Given the description of an element on the screen output the (x, y) to click on. 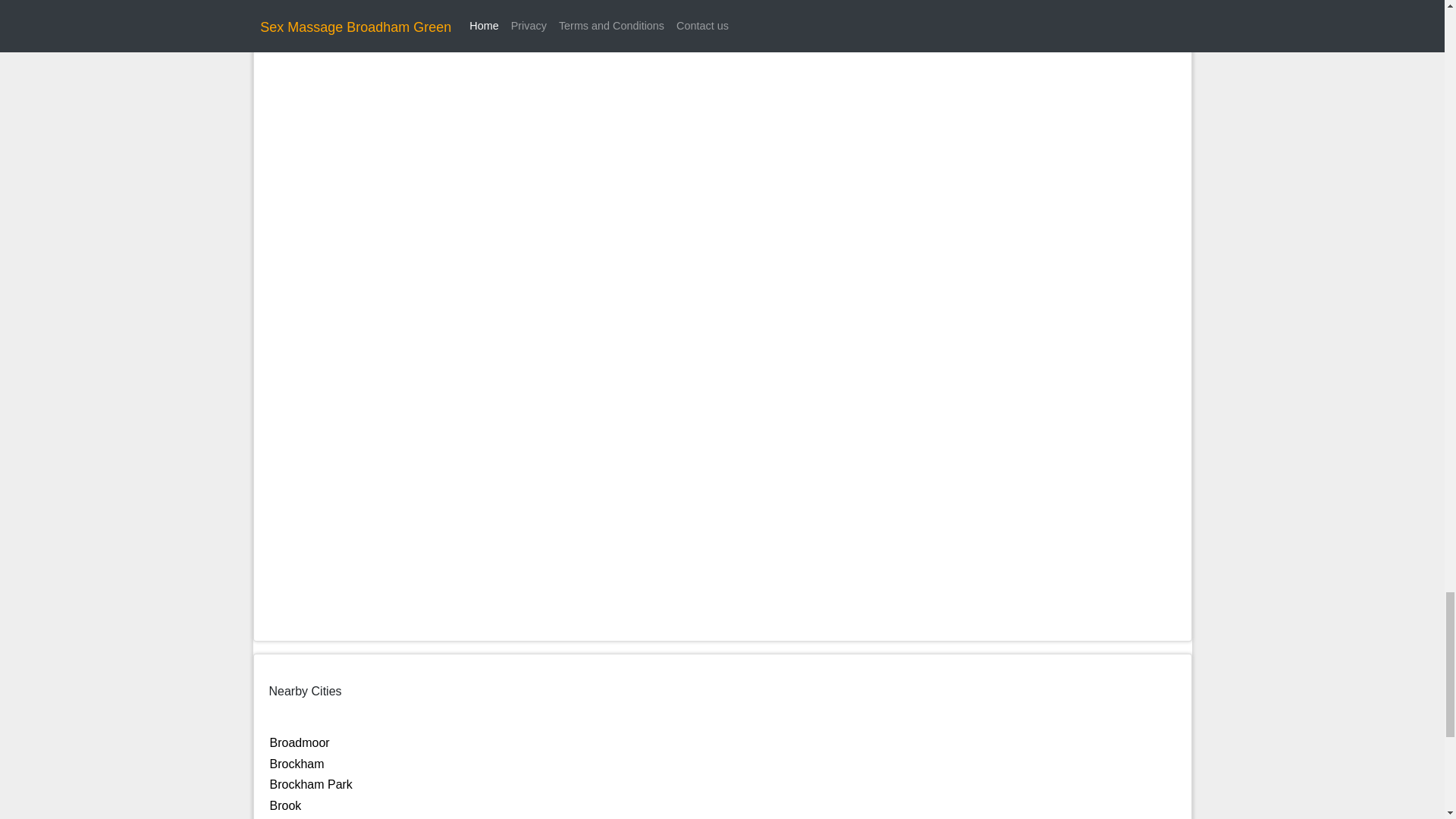
Broadmoor (299, 742)
Brook (285, 805)
Brockham (296, 763)
Brockham Park (310, 784)
